Given the description of an element on the screen output the (x, y) to click on. 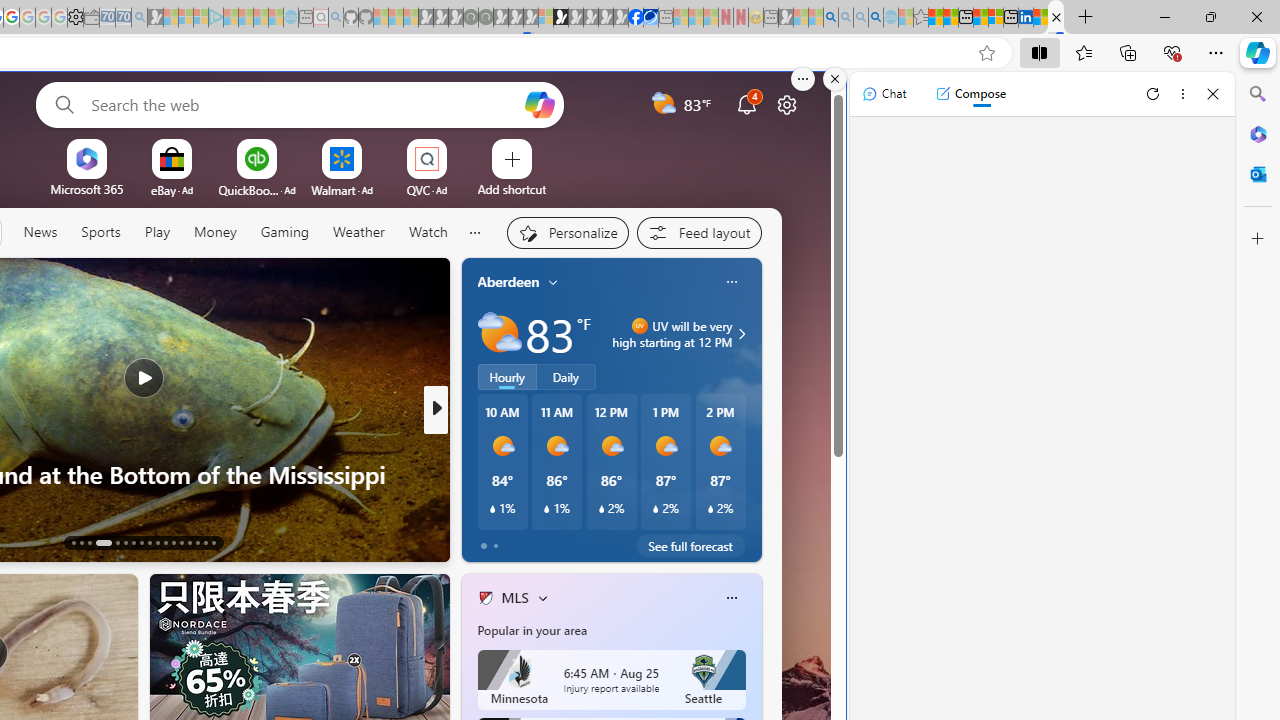
AutomationID: tab-18 (125, 542)
tab-1 (494, 545)
Show more topics (474, 232)
3k Like (487, 541)
View comments 6 Comment (568, 541)
23 Like (487, 541)
TechRadar (477, 442)
